Given the description of an element on the screen output the (x, y) to click on. 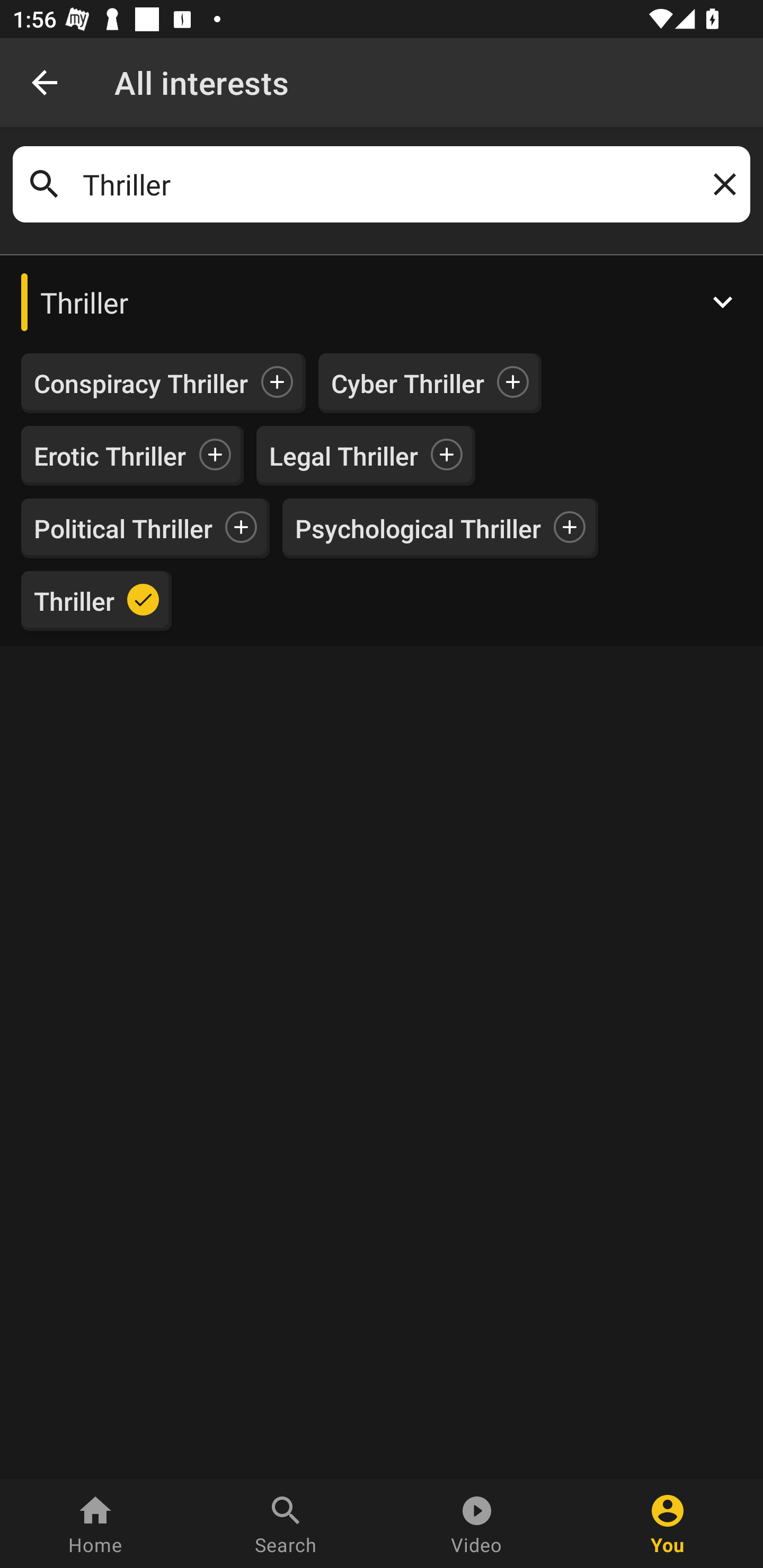
Clear query (721, 183)
Thriller (381, 184)
Thriller (381, 301)
Conspiracy Thriller (140, 382)
Cyber Thriller (407, 382)
Erotic Thriller (110, 456)
Legal Thriller (343, 456)
Political Thriller (123, 528)
Psychological Thriller (417, 528)
Thriller (74, 600)
Home (95, 1523)
Search (285, 1523)
Video (476, 1523)
